Given the description of an element on the screen output the (x, y) to click on. 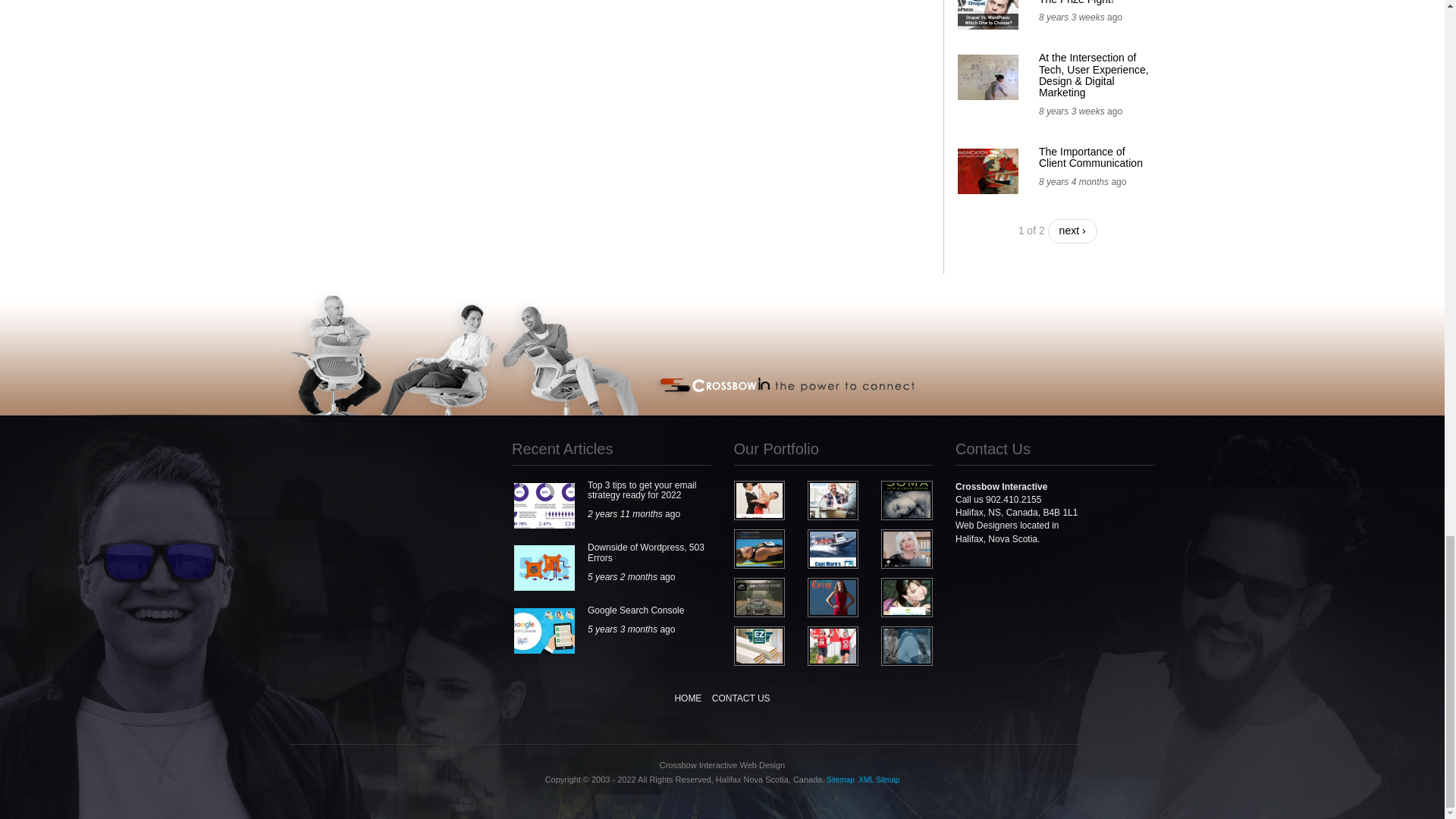
Girl on Fire (832, 597)
Go to next page (1072, 231)
Web Design Halifax Nova Scotia Canada (906, 597)
